Given the description of an element on the screen output the (x, y) to click on. 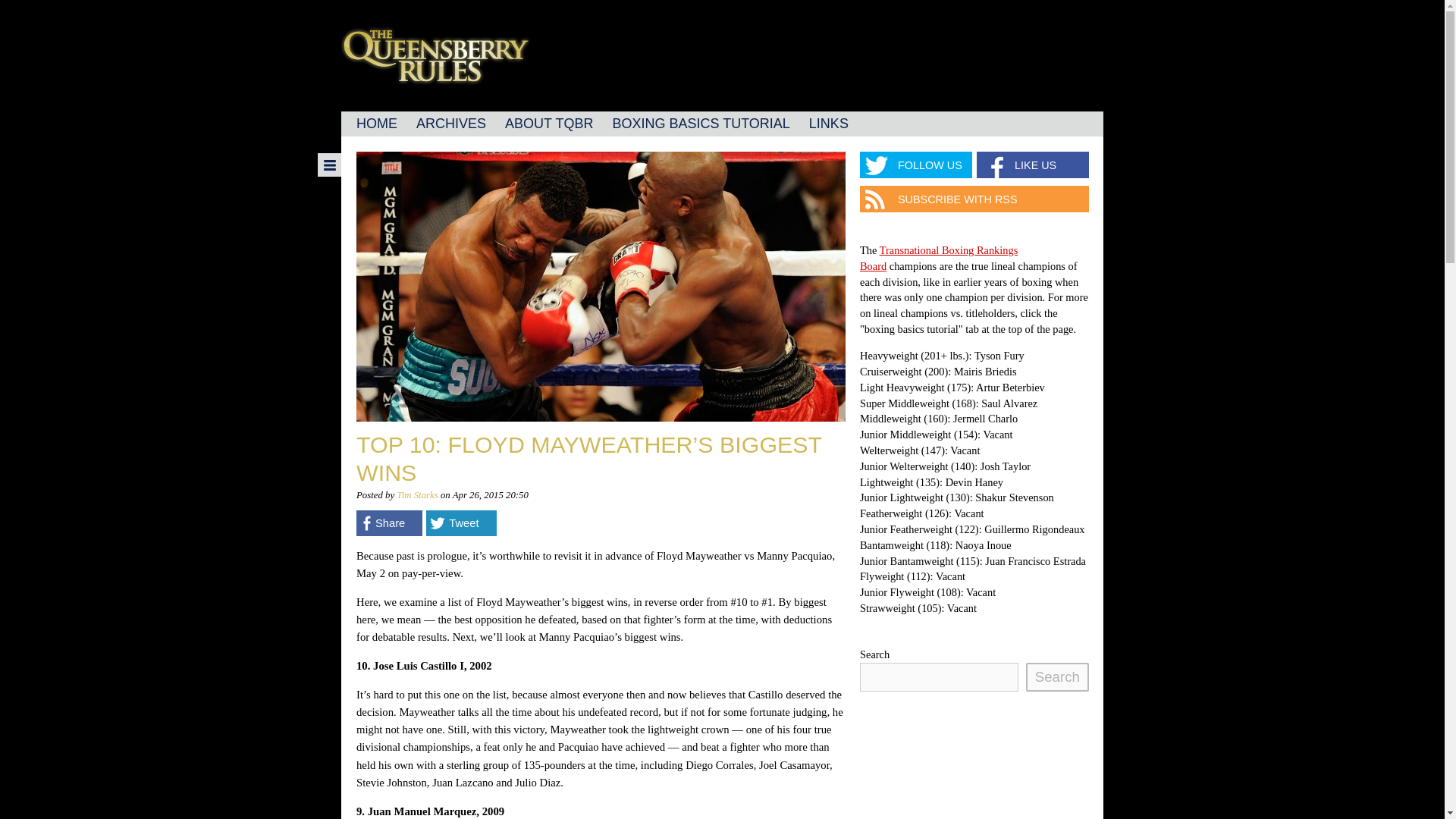
Tweet (461, 523)
LINKS (829, 123)
ARCHIVES (451, 123)
Tim Starks (417, 494)
LIKE US (1032, 164)
HOME (376, 123)
BOXING BASICS TUTORIAL (700, 123)
ABOUT TQBR (548, 123)
Transnational Boxing Rankings Board (938, 257)
Search (1057, 676)
